Given the description of an element on the screen output the (x, y) to click on. 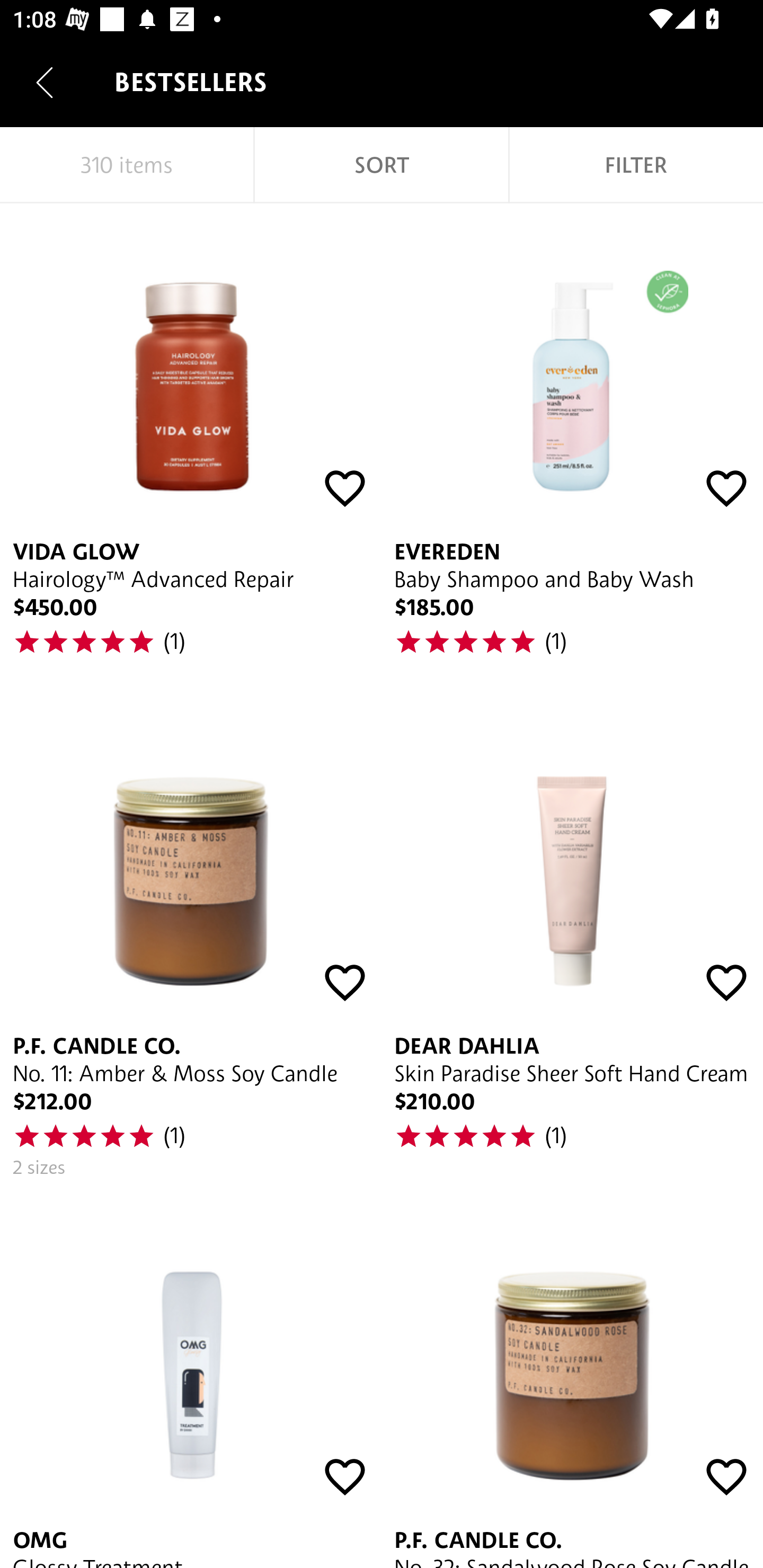
Navigate up (44, 82)
SORT (381, 165)
FILTER (636, 165)
OMG Glossy Treatment (190, 1379)
P.F. CANDLE CO. No. 32: Sandalwood Rose Soy Candle (572, 1379)
